Given the description of an element on the screen output the (x, y) to click on. 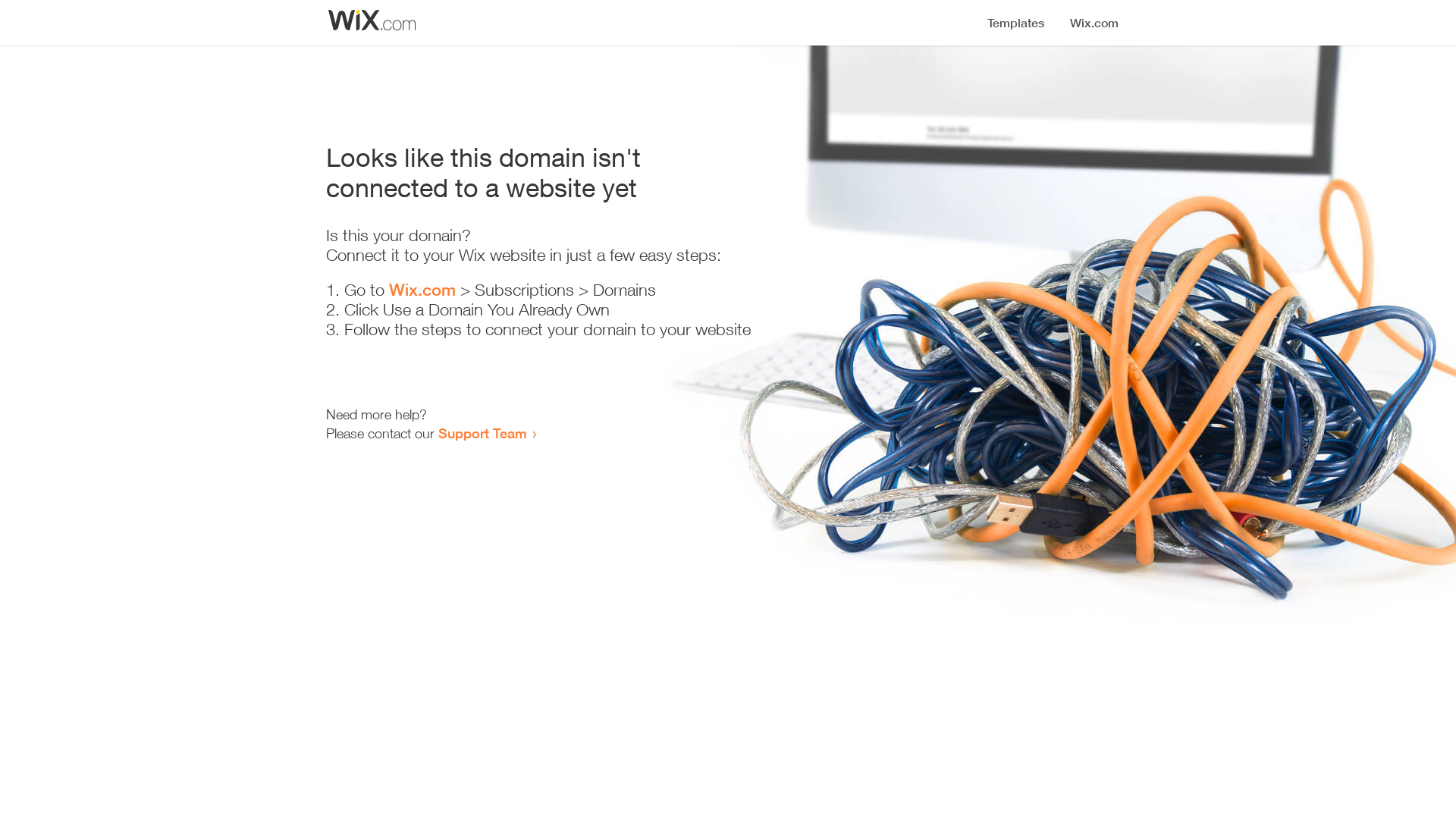
Wix.com Element type: text (422, 289)
Support Team Element type: text (482, 432)
